Given the description of an element on the screen output the (x, y) to click on. 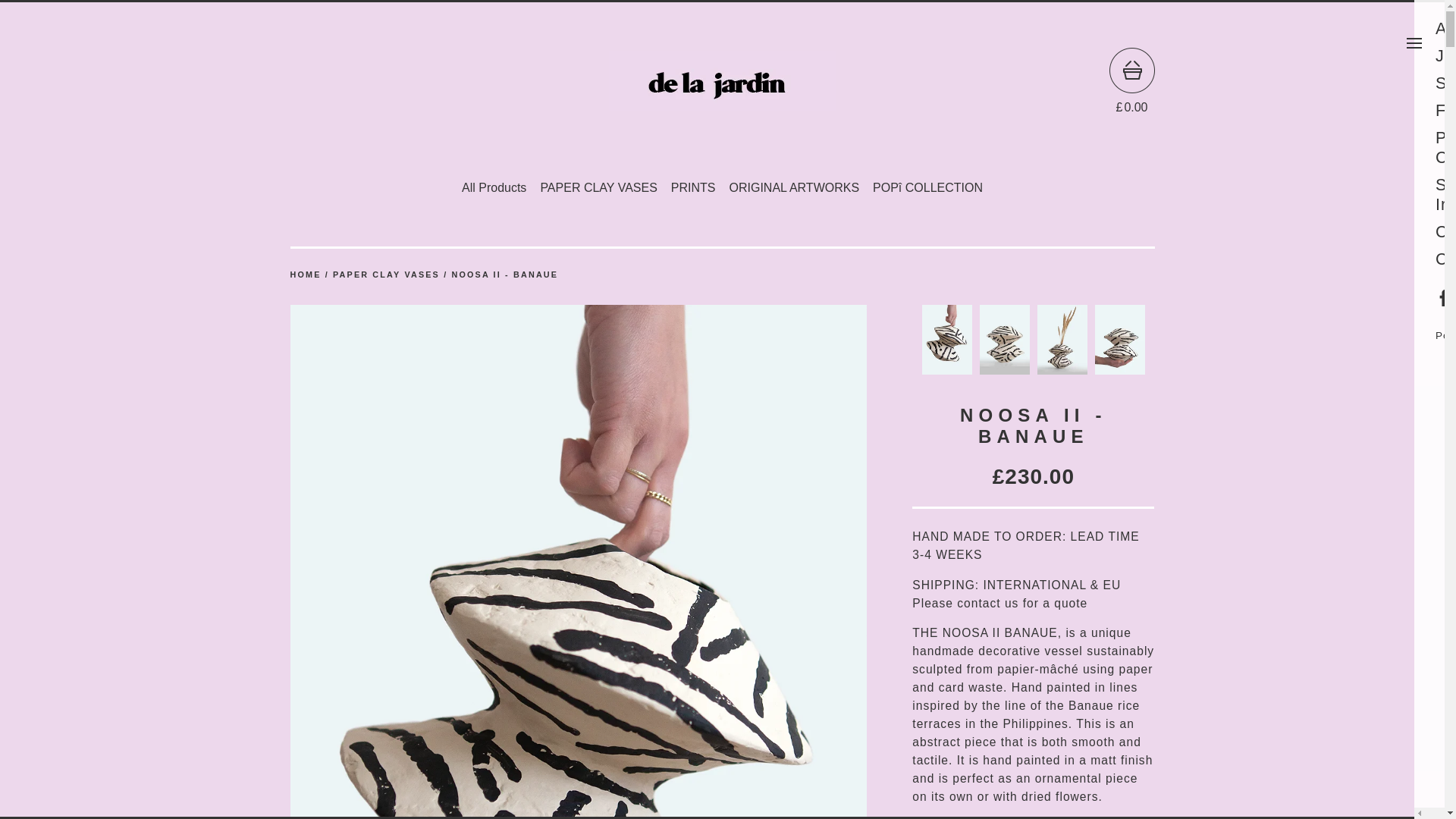
PAPER CLAY VASES (598, 187)
NOOSA II - BANAUE (504, 274)
PRINTS (693, 187)
de la Jardin (721, 80)
Open menu (1414, 42)
View PAPER CLAY VASES (386, 274)
View PAPER CLAY VASES (598, 187)
PAPER CLAY VASES (386, 274)
Home (304, 274)
View PRINTS (693, 187)
